Given the description of an element on the screen output the (x, y) to click on. 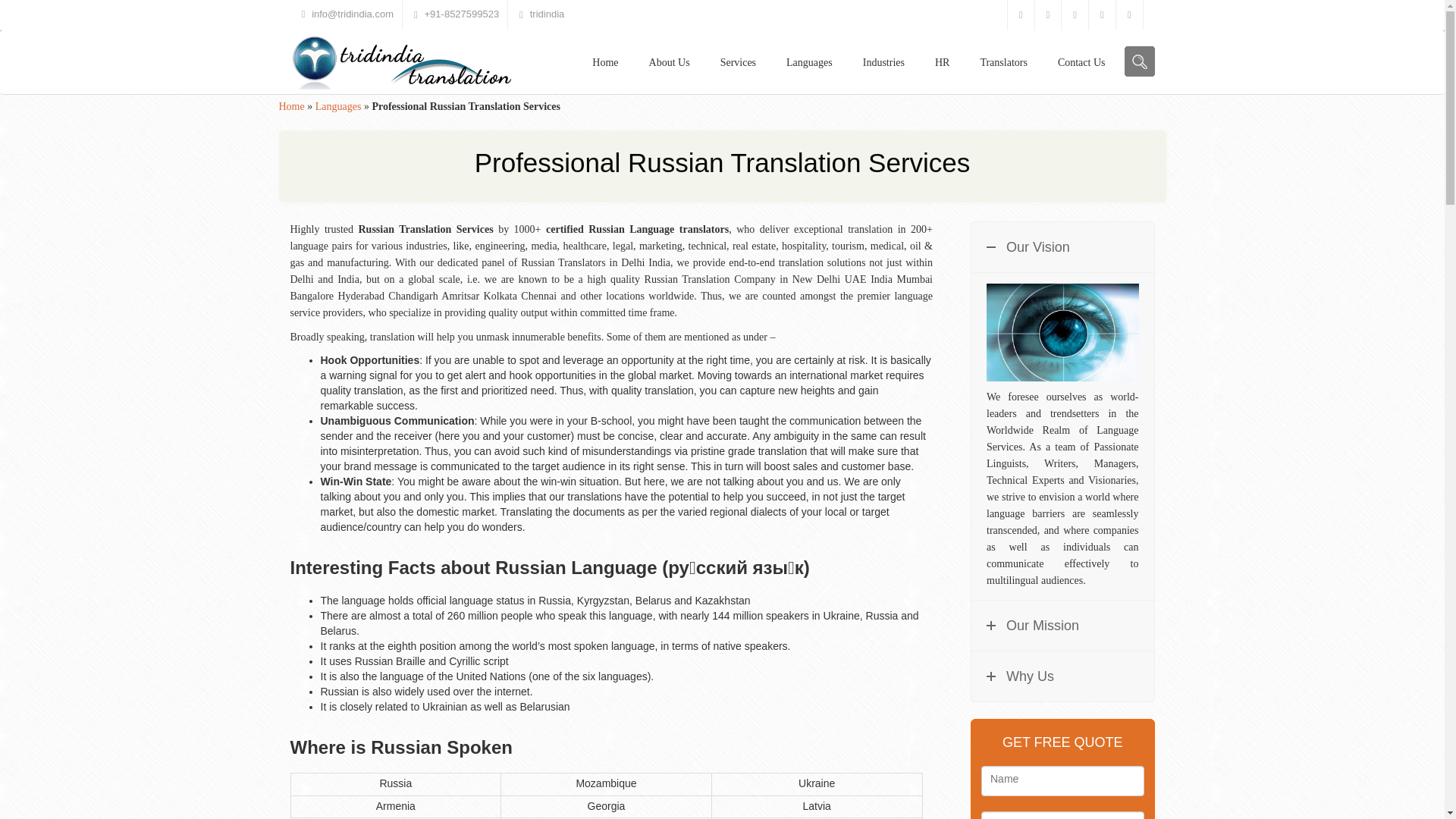
Search (1139, 60)
Languages (809, 62)
tridindia (546, 13)
Services (737, 62)
About Us (668, 62)
